Given the description of an element on the screen output the (x, y) to click on. 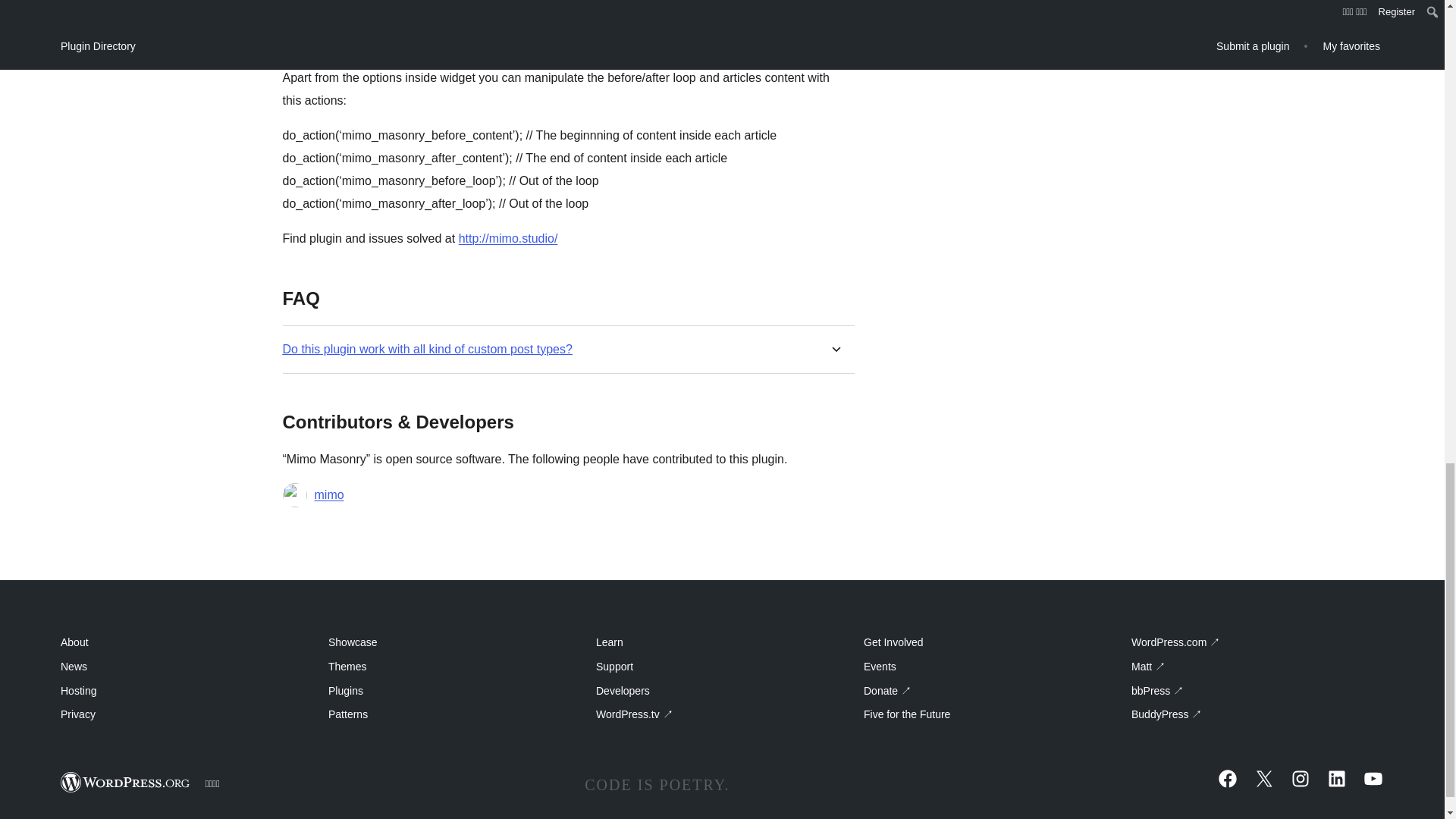
Do this plugin work with all kind of custom post types? (427, 349)
mimo (328, 495)
WordPress.org (125, 782)
Mimo Studio - web design and development (507, 237)
